Given the description of an element on the screen output the (x, y) to click on. 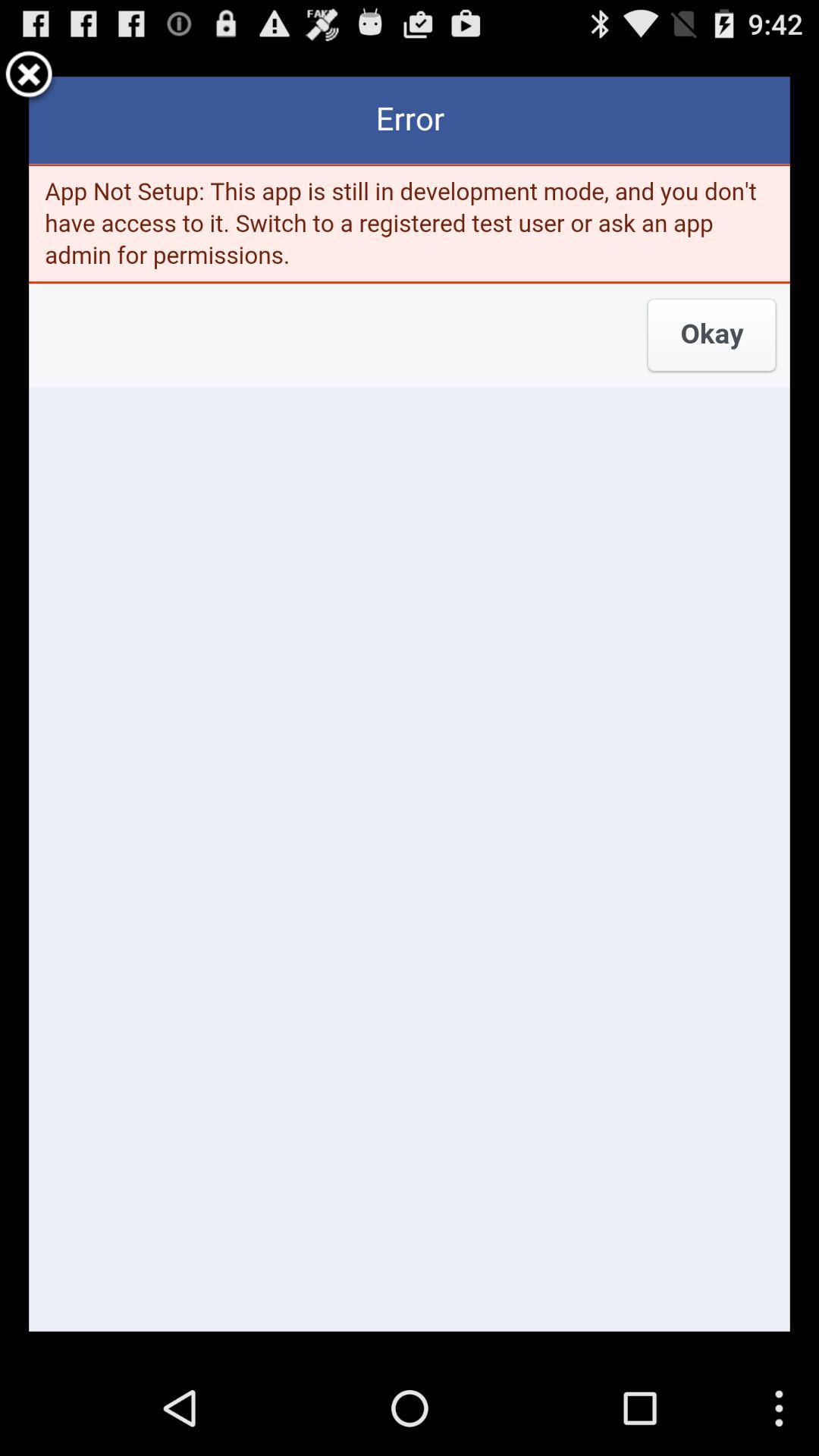
error simpol (29, 76)
